Given the description of an element on the screen output the (x, y) to click on. 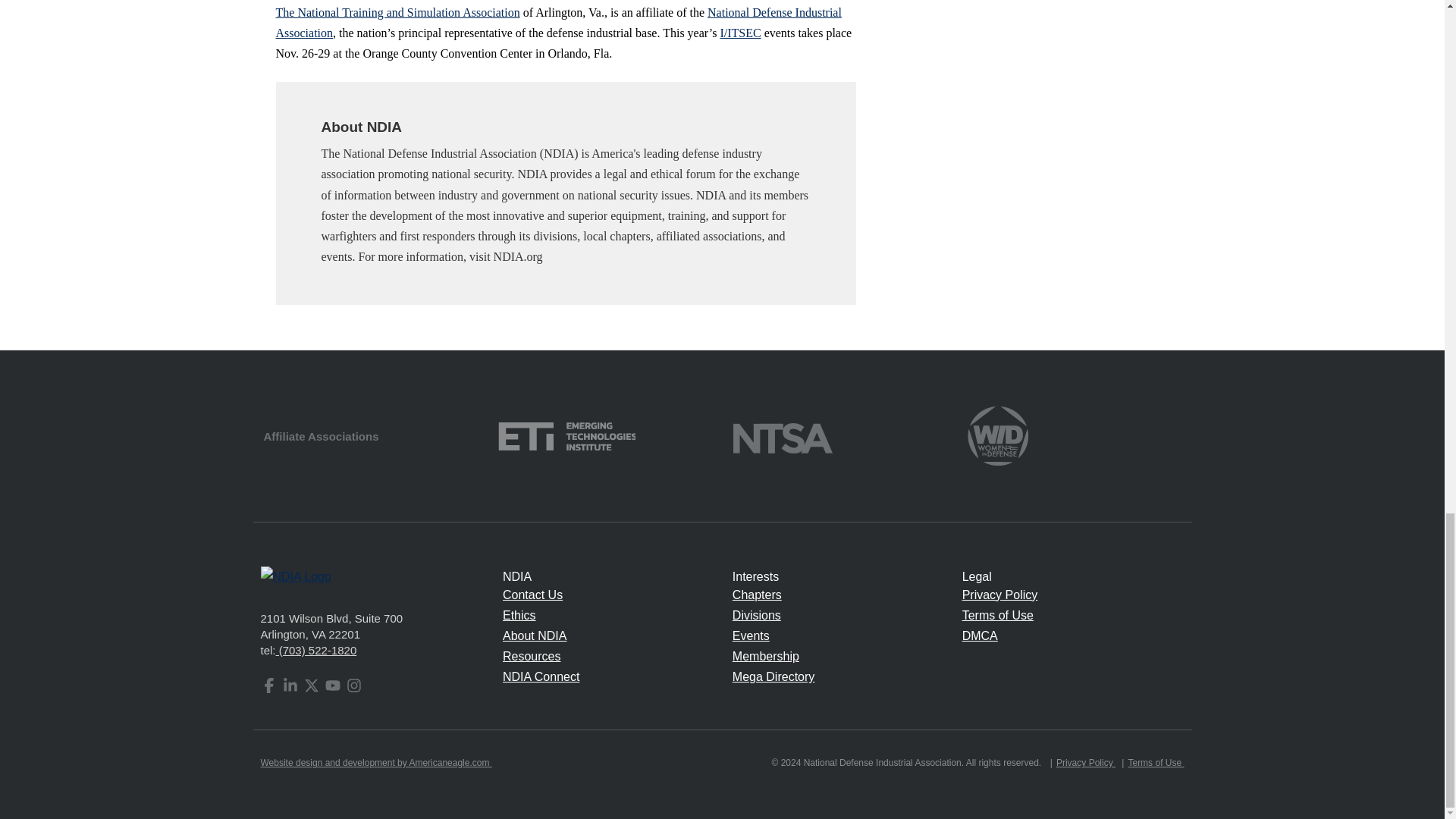
About NDIA (534, 635)
YouTube (331, 685)
Instagram (353, 685)
Emerging Technologies Institute (565, 436)
Facebook (268, 685)
Chapters (756, 594)
Emerging Technologies Institute (565, 434)
X (310, 685)
WID (997, 434)
LinkedIn (289, 685)
